Given the description of an element on the screen output the (x, y) to click on. 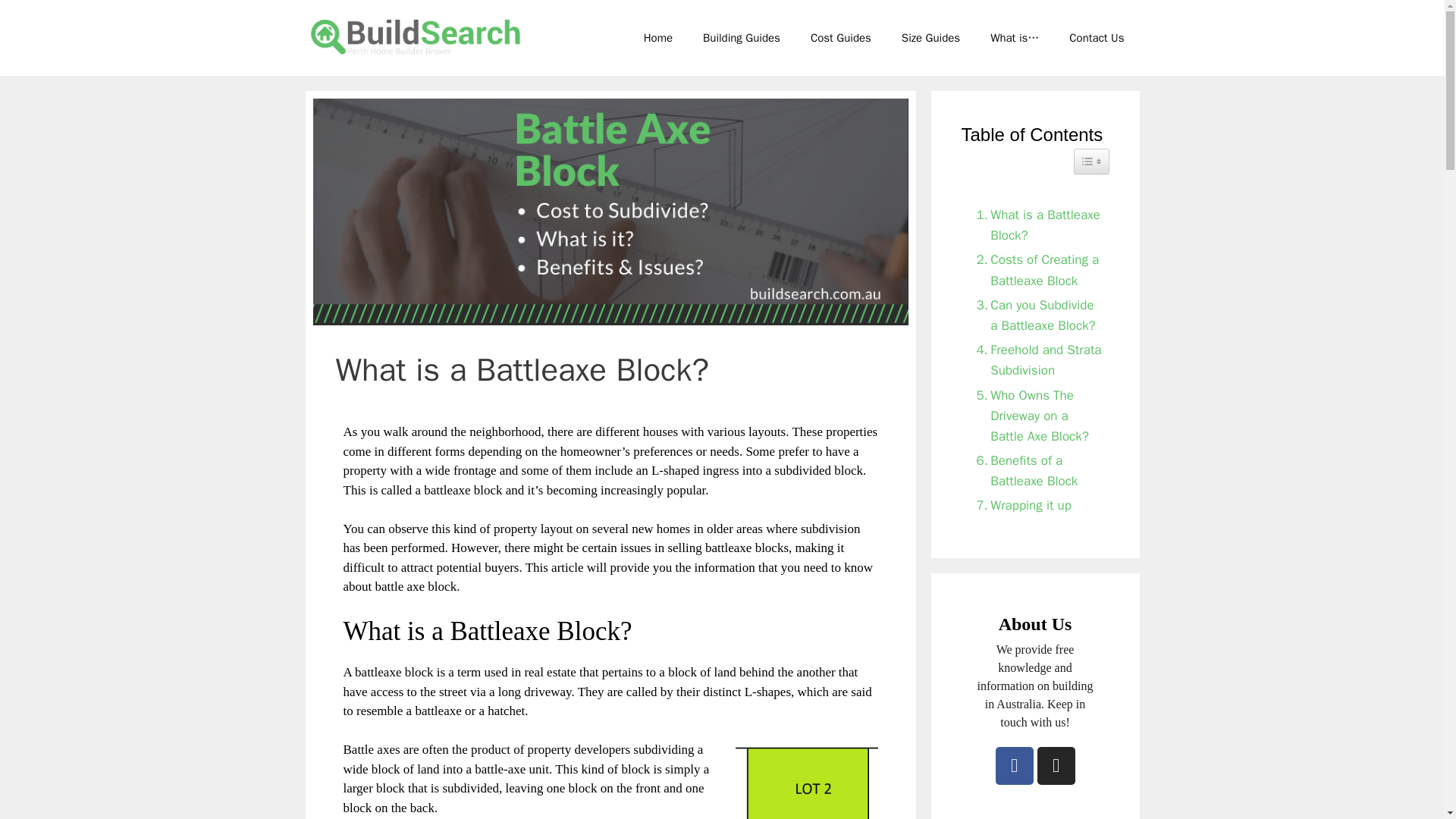
BuildSearch (418, 33)
Who Owns The Driveway on a Battle Axe Block?  (1035, 415)
Freehold and Strata Subdivision (1035, 359)
Contact Us (1096, 37)
Wrapping it up (1020, 505)
Toggle Table of Content (1091, 161)
Size Guides (930, 37)
What is a Battleaxe Block? (1035, 224)
BuildSearch (418, 34)
